Given the description of an element on the screen output the (x, y) to click on. 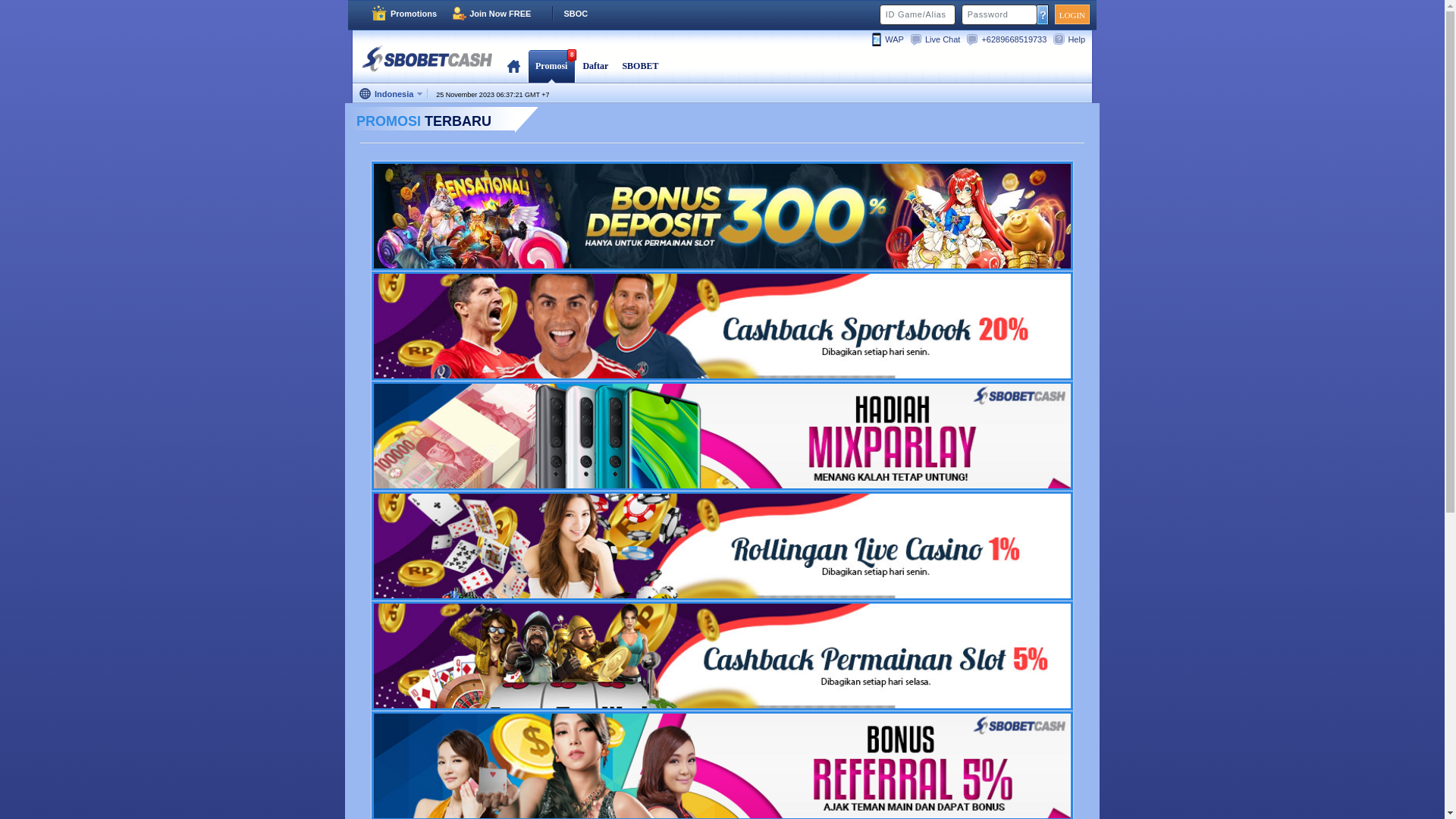
Cashback Slot 5% Element type: hover (721, 655)
Bonus Referral SBOBETCASH Element type: hover (721, 765)
LOGIN Element type: text (1071, 14)
Help Element type: text (1071, 39)
WAP Element type: text (889, 39)
+6289668519733 Element type: text (1009, 39)
Cashback Sportbook Up to 20% Element type: hover (721, 325)
Join Now FREE Element type: text (490, 13)
Promotions Element type: text (403, 13)
Komisi 1% Live Casino Element type: hover (721, 545)
Live Chat Element type: text (938, 39)
Event Mix Parlay Element type: hover (721, 435)
Forgot your password? Element type: hover (1042, 14)
Bonus deposit 300% Element type: hover (721, 215)
Promosi Element type: text (551, 65)
Home Element type: text (513, 65)
SBOC Element type: text (566, 13)
SBOBET Element type: text (639, 65)
SBOBET Sports | Online Sports Live Betting - Join Now! Element type: hover (426, 57)
Daftar Element type: text (595, 65)
